Given the description of an element on the screen output the (x, y) to click on. 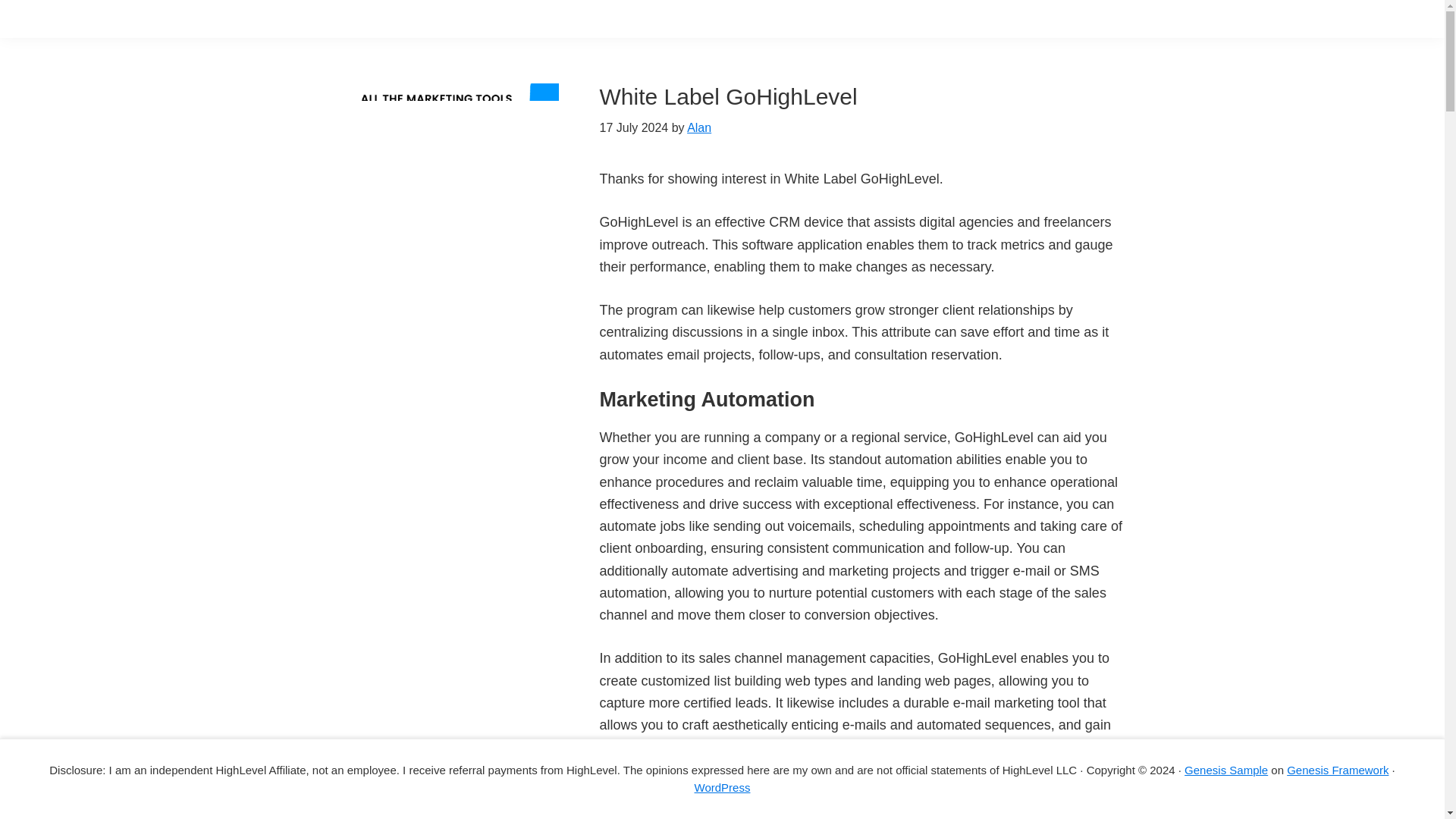
Genesis Sample (1226, 769)
Alan (699, 127)
Genesis Framework (1338, 769)
WordPress (722, 787)
